Given the description of an element on the screen output the (x, y) to click on. 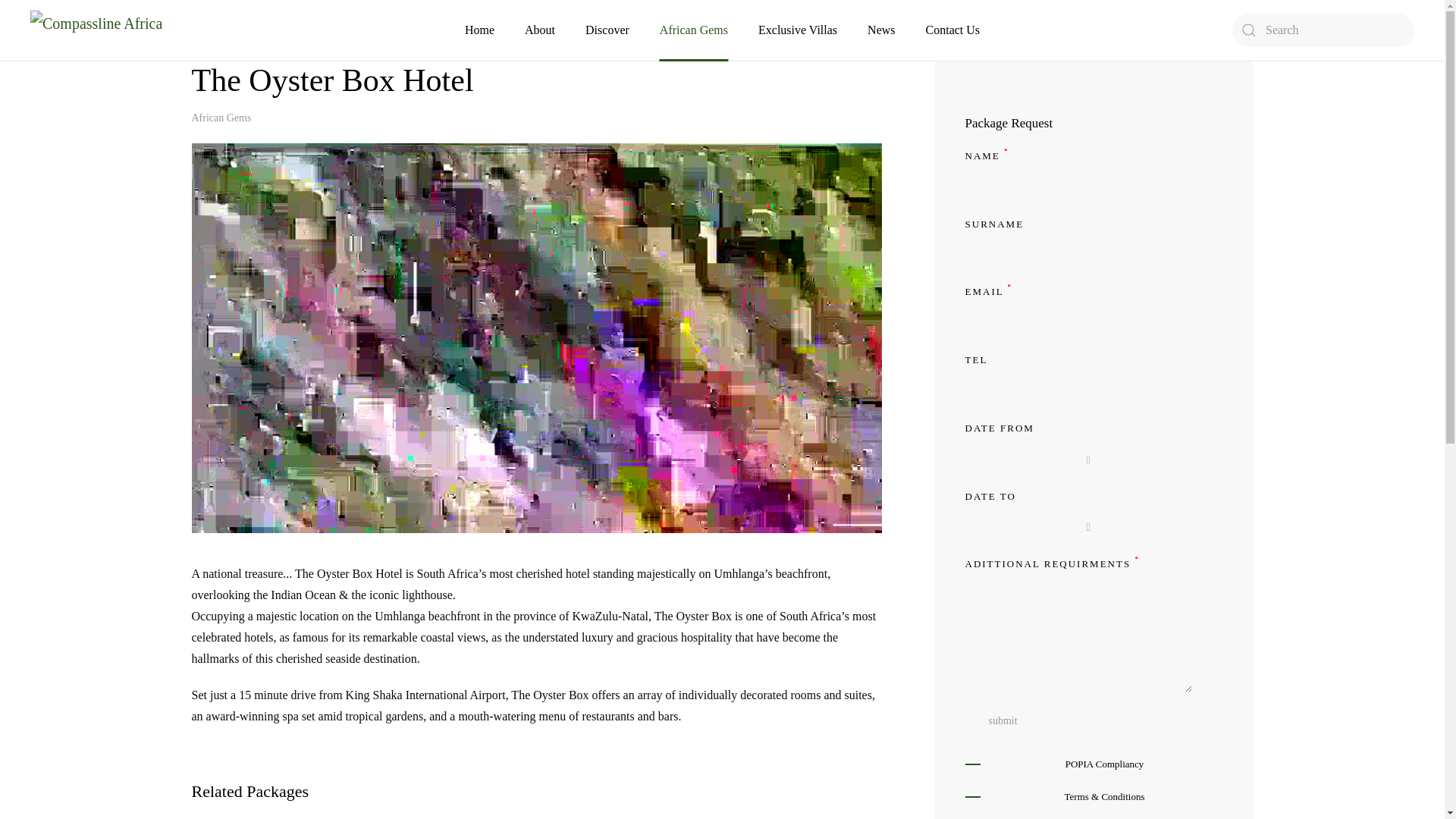
African Gems (693, 30)
Exclusive Villas (797, 30)
About (539, 30)
Home (479, 30)
African Gems (220, 117)
Contact Us (952, 30)
Open the calendar (1087, 459)
Open the calendar (1087, 527)
News (881, 30)
Discover (606, 30)
